Given the description of an element on the screen output the (x, y) to click on. 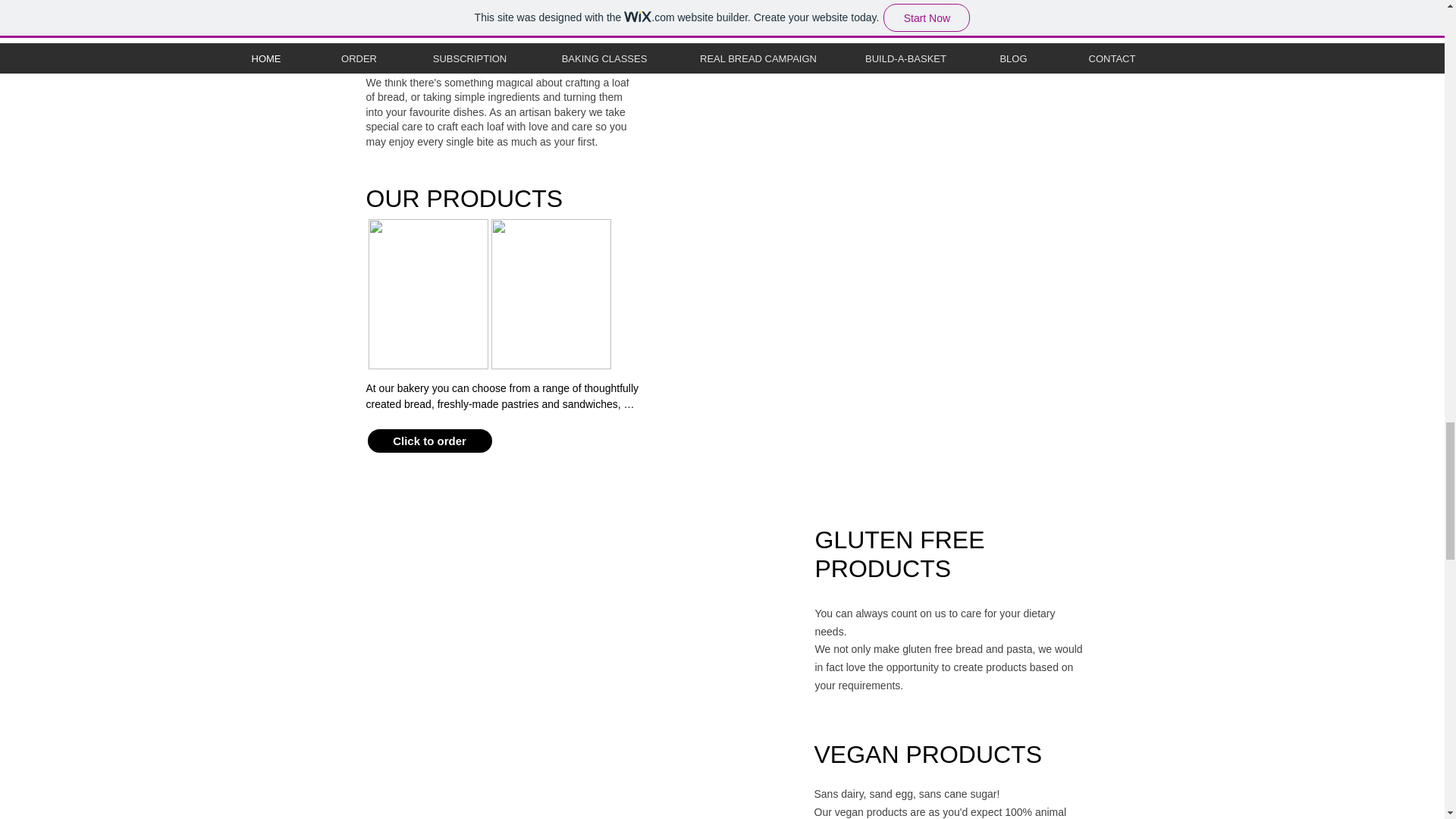
Click to order (429, 440)
